Given the description of an element on the screen output the (x, y) to click on. 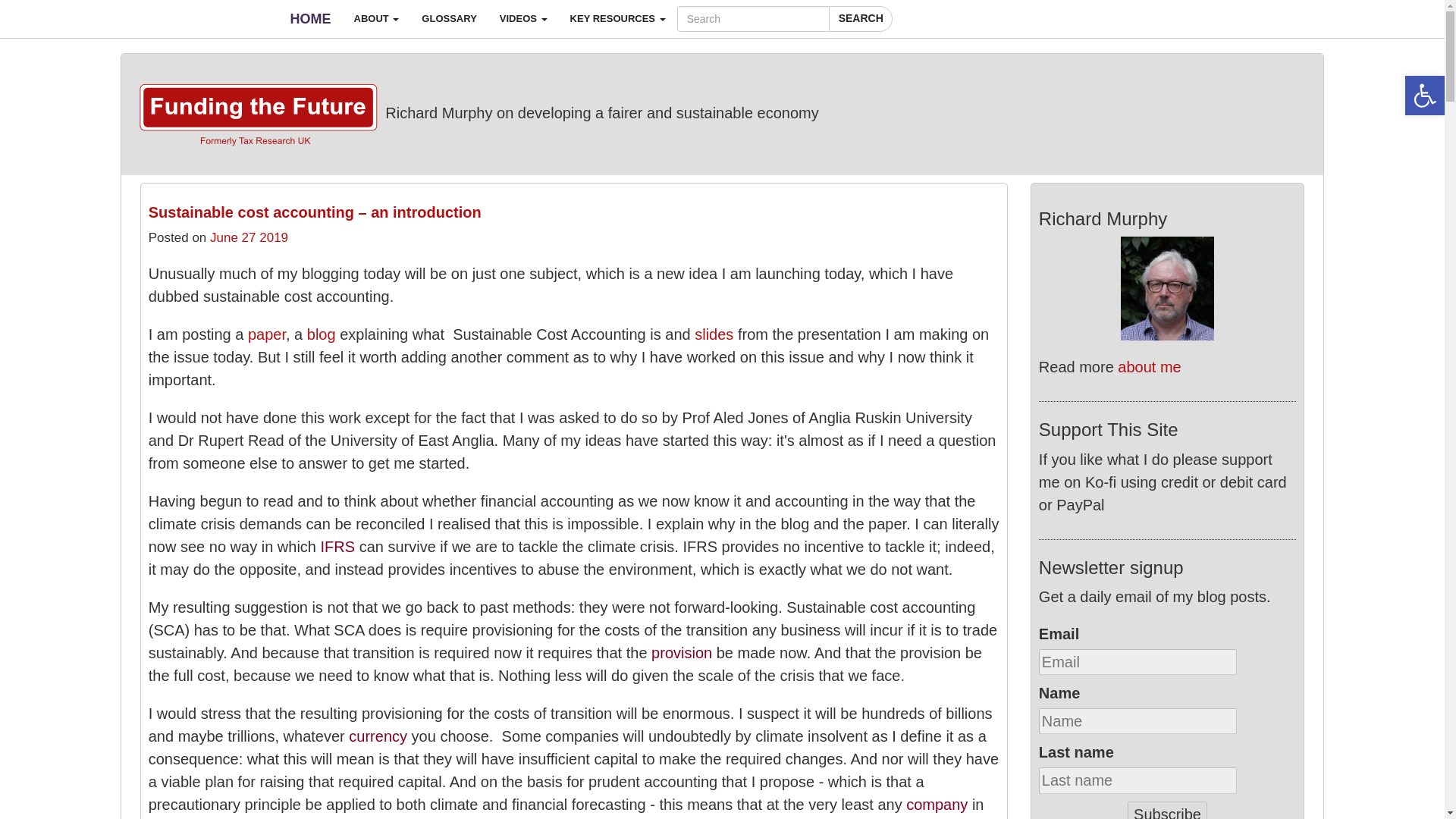
KEY RESOURCES (618, 18)
blog (321, 334)
Glossary (448, 18)
GLOSSARY (448, 18)
slides (713, 334)
HOME (310, 18)
Search (860, 18)
June 27 2019 (248, 237)
VIDEOS (523, 18)
Search (860, 18)
Subscribe (1166, 810)
paper (266, 334)
provision (680, 652)
ABOUT (376, 18)
Videos (523, 18)
